Given the description of an element on the screen output the (x, y) to click on. 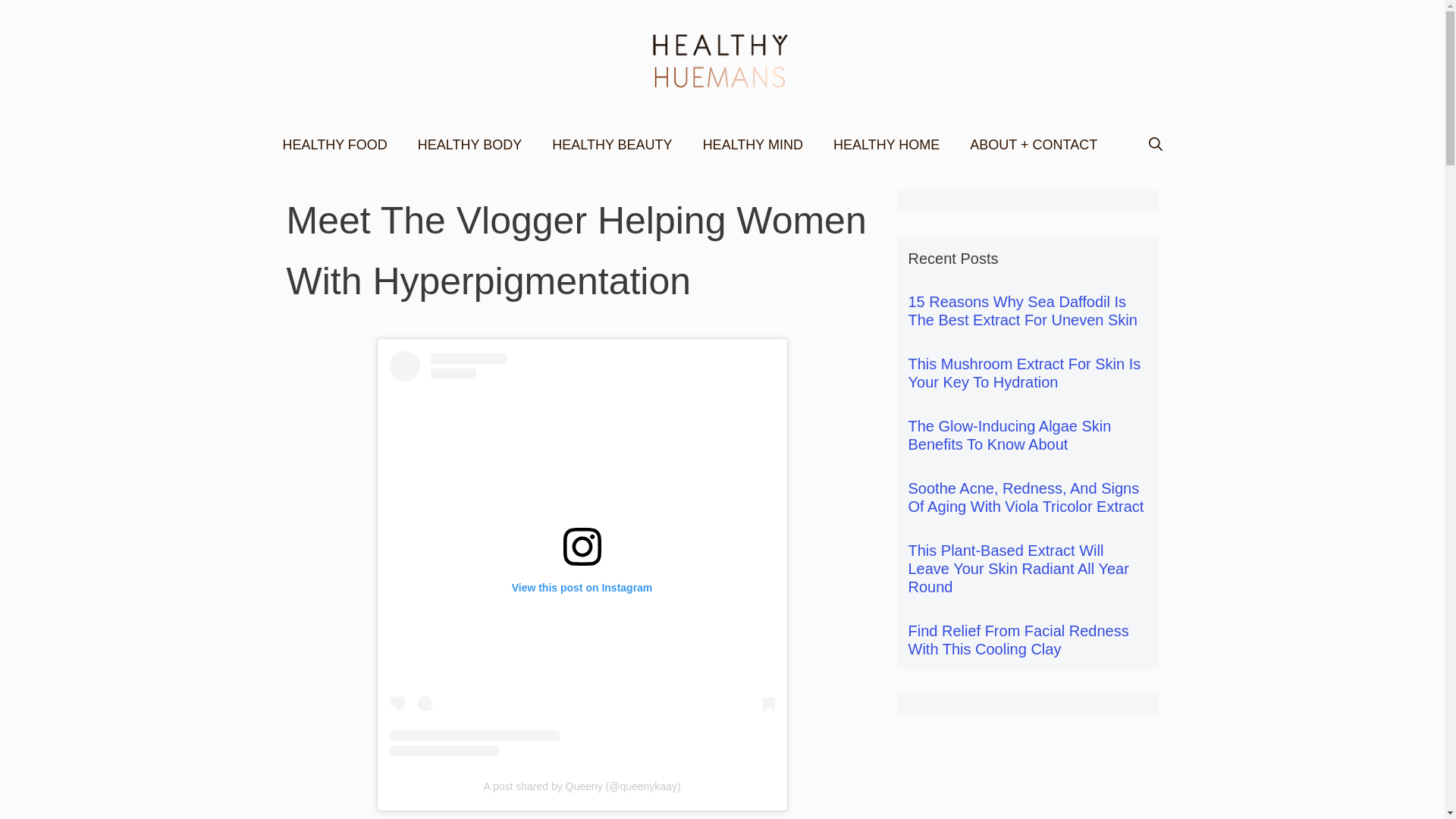
HEALTHY MIND (752, 144)
The Glow-Inducing Algae Skin Benefits To Know About (1010, 434)
HEALTHY BEAUTY (612, 144)
HEALTHY FOOD (333, 144)
HEALTHY BODY (470, 144)
Find Relief From Facial Redness With This Cooling Clay (1018, 639)
HEALTHY HOME (886, 144)
This Mushroom Extract For Skin Is Your Key To Hydration (1024, 372)
Healthy Huemans (722, 59)
Healthy Huemans (722, 60)
